Given the description of an element on the screen output the (x, y) to click on. 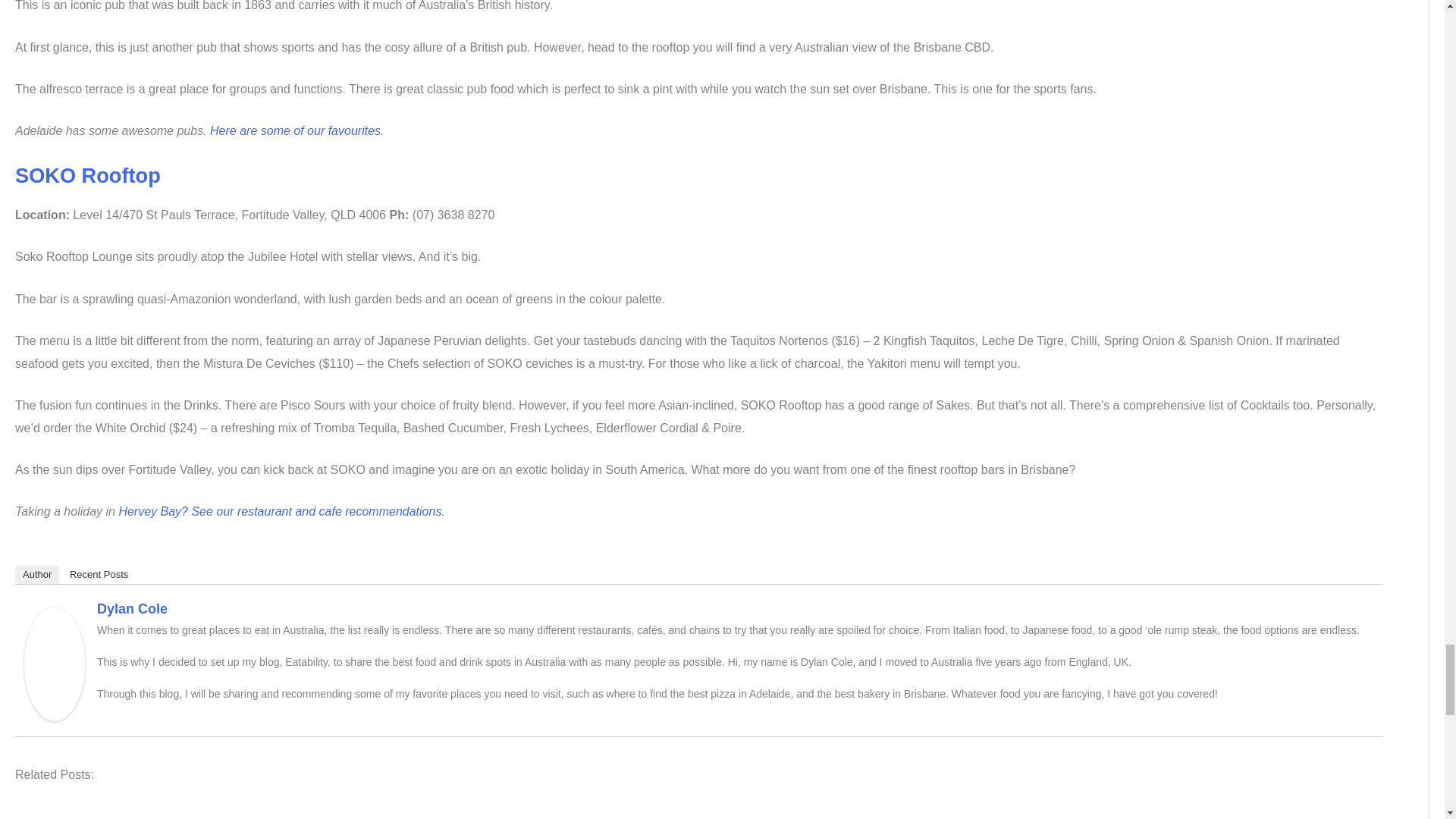
The 15 Best Rooftop Bars In Melbourne (199, 813)
Dylan Cole (54, 662)
The 15 Best Bars In Perth (823, 813)
The Rooftop at QT (449, 813)
15 Best Wine Bars In Sydney (949, 813)
Pomelo Rooftop Bar (574, 813)
The 15 Best Bars In Brisbane (699, 813)
The 15 Best Rooftop Bars In Sydney (74, 813)
Transit Rooftop Bar - Our Review (323, 813)
